Given the description of an element on the screen output the (x, y) to click on. 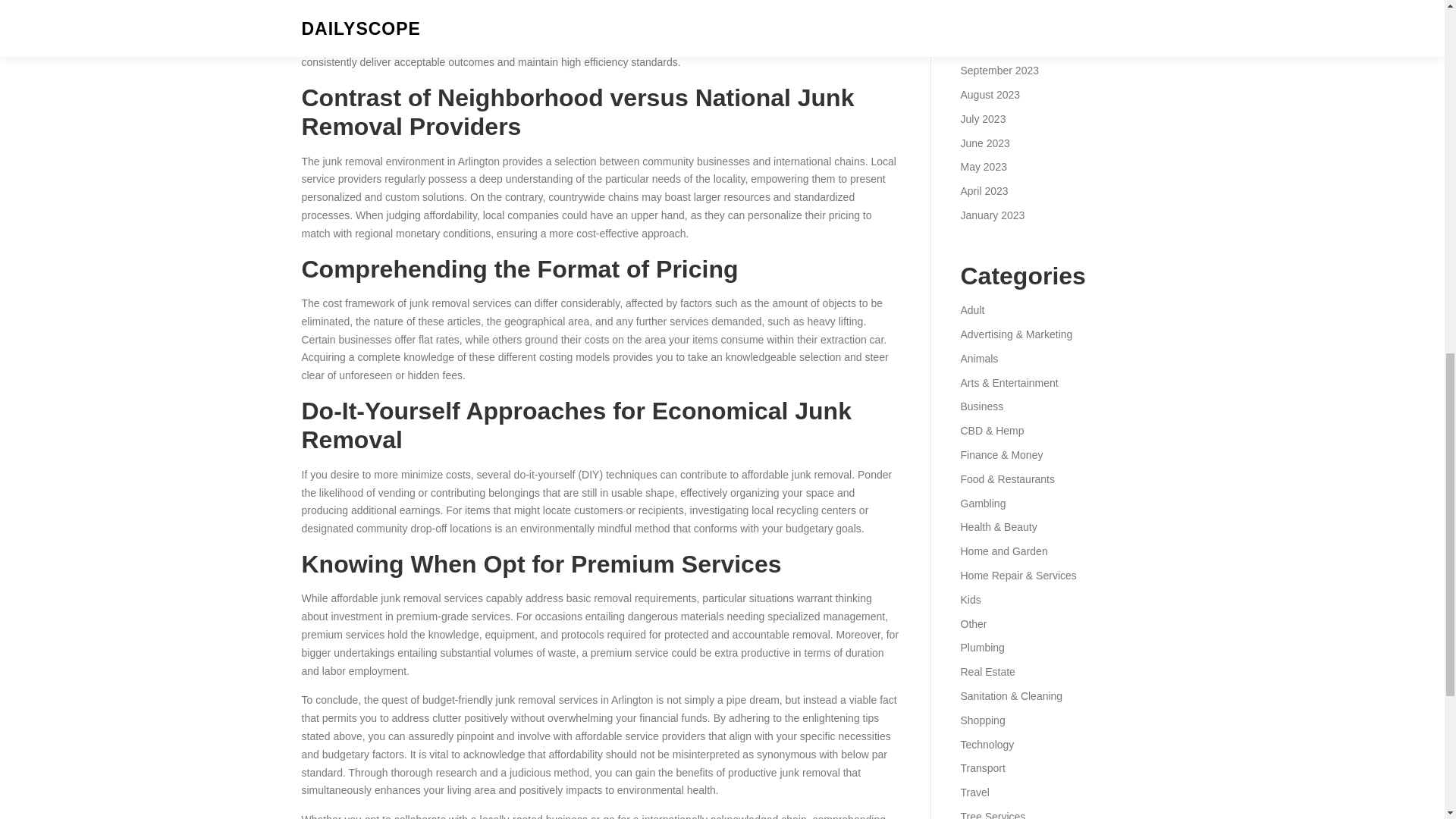
July 2023 (982, 119)
November 2023 (997, 22)
Adult (971, 309)
December 2023 (997, 2)
Animals (978, 358)
August 2023 (989, 94)
April 2023 (983, 191)
May 2023 (982, 166)
September 2023 (999, 70)
October 2023 (992, 46)
June 2023 (984, 143)
Business (981, 406)
January 2023 (992, 215)
